Given the description of an element on the screen output the (x, y) to click on. 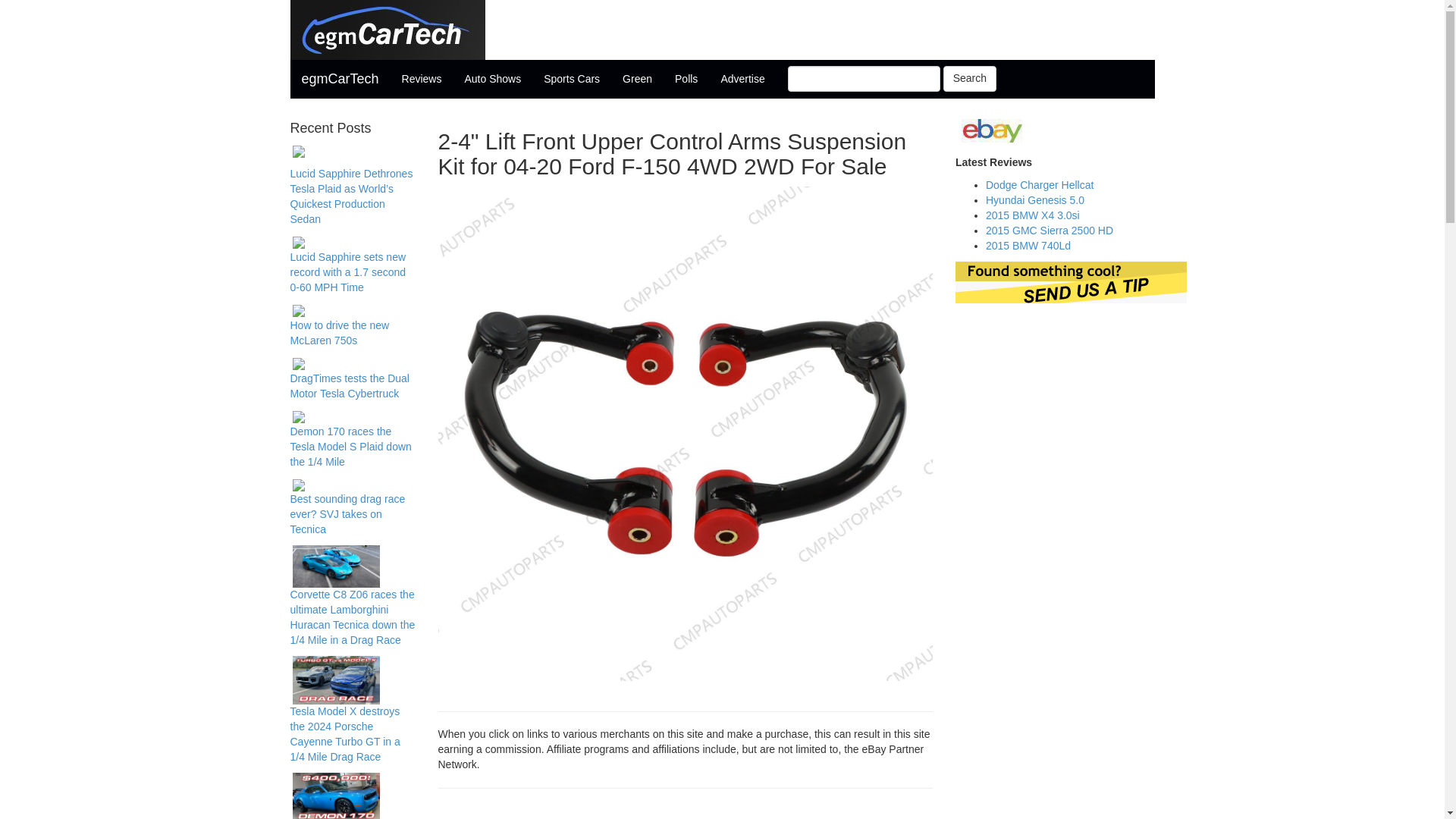
egmCarTech (339, 78)
Dodge Charger Hellcat (1039, 184)
Reviews (421, 78)
2015 BMW X4 3.0si (1032, 215)
Sports Cars (571, 78)
2015 GMC Sierra 2500 HD (1049, 230)
Search (969, 78)
2015 BMW 740Ld (1027, 245)
Green (637, 78)
How to drive the new McLaren 750s (338, 332)
Advertisement (685, 811)
Polls (686, 78)
Hyundai Genesis 5.0 (1034, 200)
DragTimes tests the Dual Motor Tesla Cybertruck (349, 385)
